Given the description of an element on the screen output the (x, y) to click on. 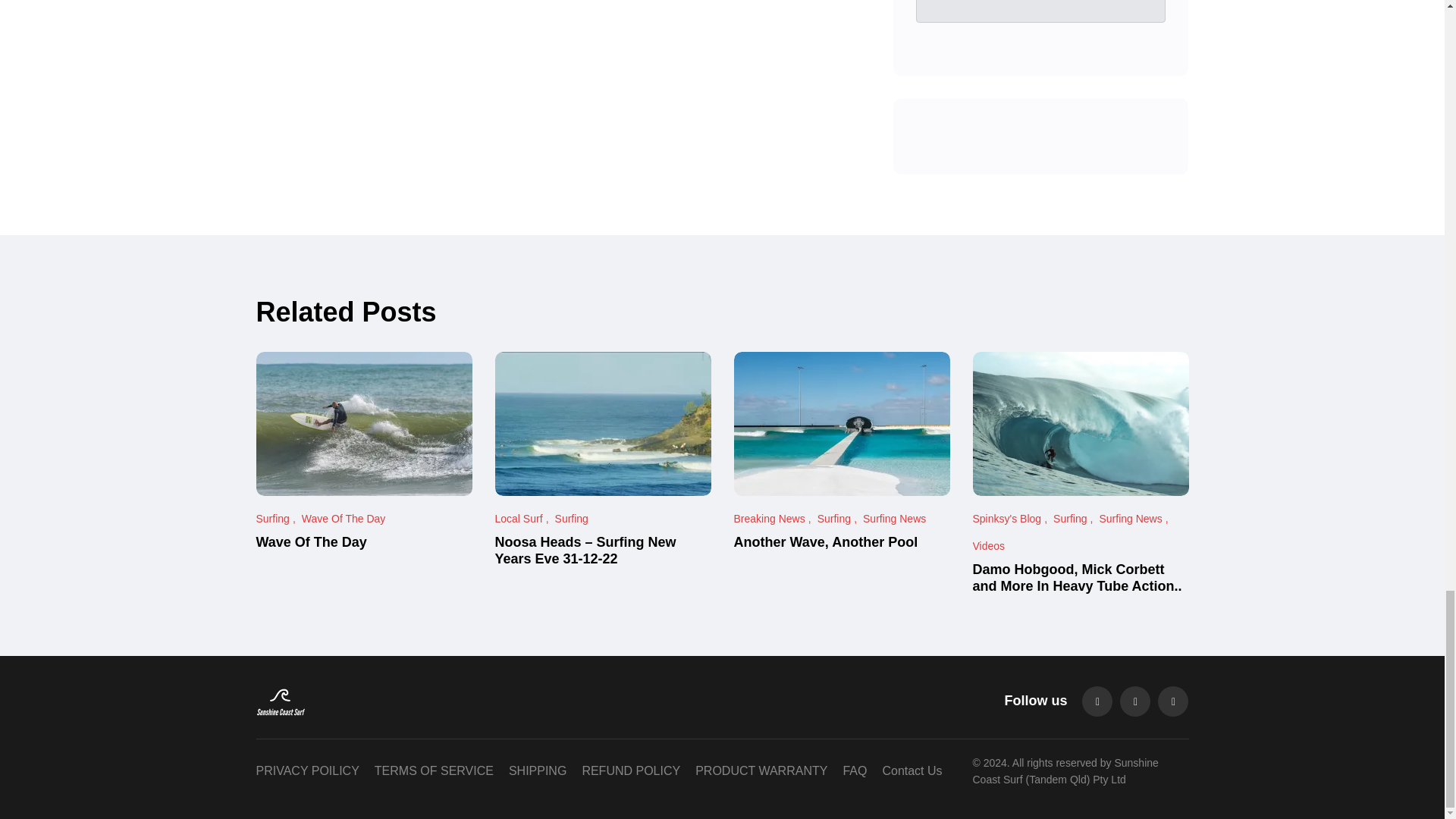
Facebook-f (1134, 701)
Sunshine Coast Surf (403, 701)
Instagram (1096, 701)
Youtube (1172, 701)
